Given the description of an element on the screen output the (x, y) to click on. 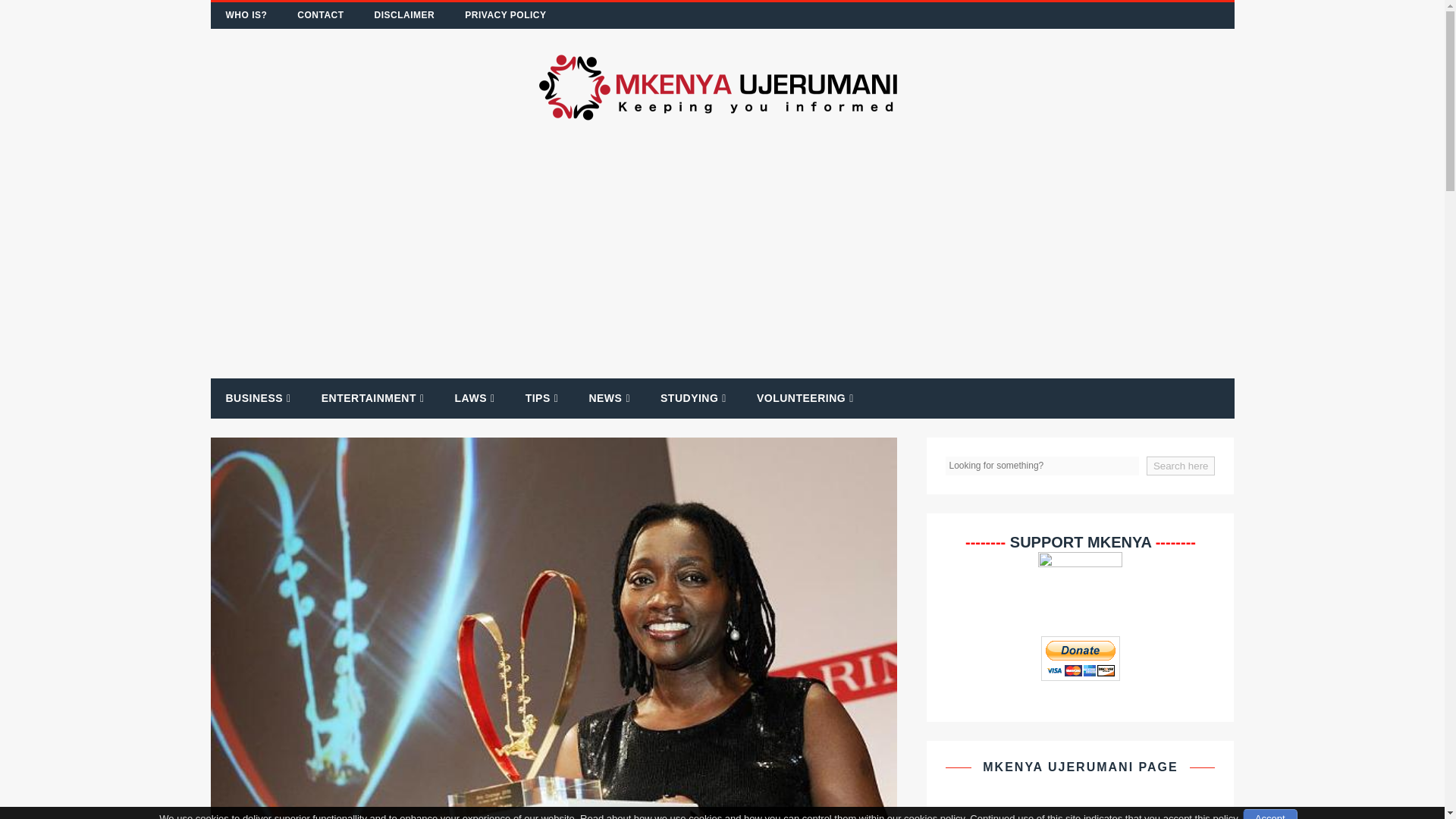
CONTACT (320, 15)
WHO IS? (246, 15)
DISCLAIMER (404, 15)
PayPal - The safer, easier way to pay online! (1080, 658)
PRIVACY POLICY (504, 15)
